Given the description of an element on the screen output the (x, y) to click on. 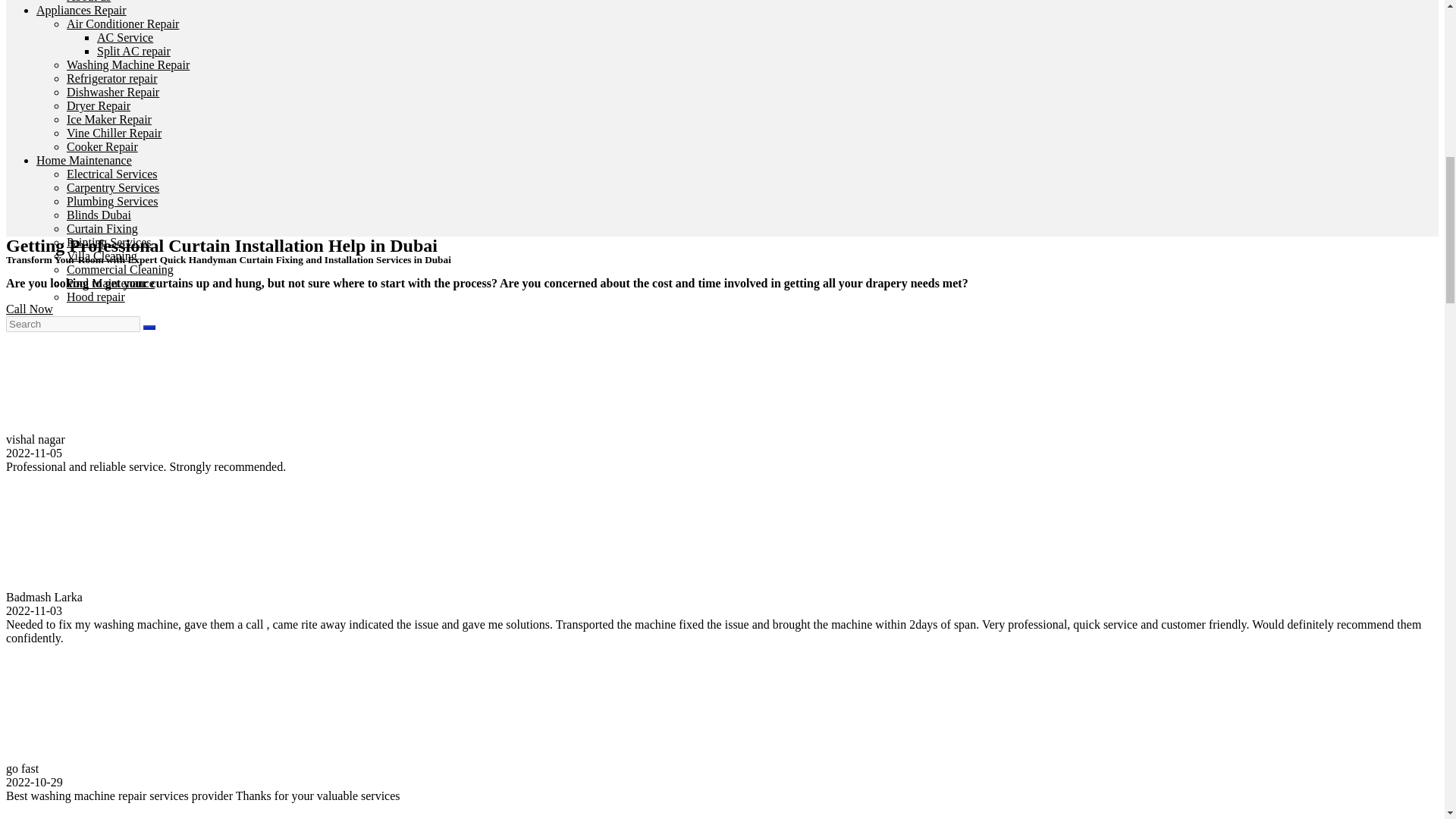
Split AC repair (133, 51)
AC Service (124, 37)
Air Conditioner Repair (122, 23)
Washing Machine Repair (127, 64)
About us (88, 1)
Appliances Repair (81, 10)
